Given the description of an element on the screen output the (x, y) to click on. 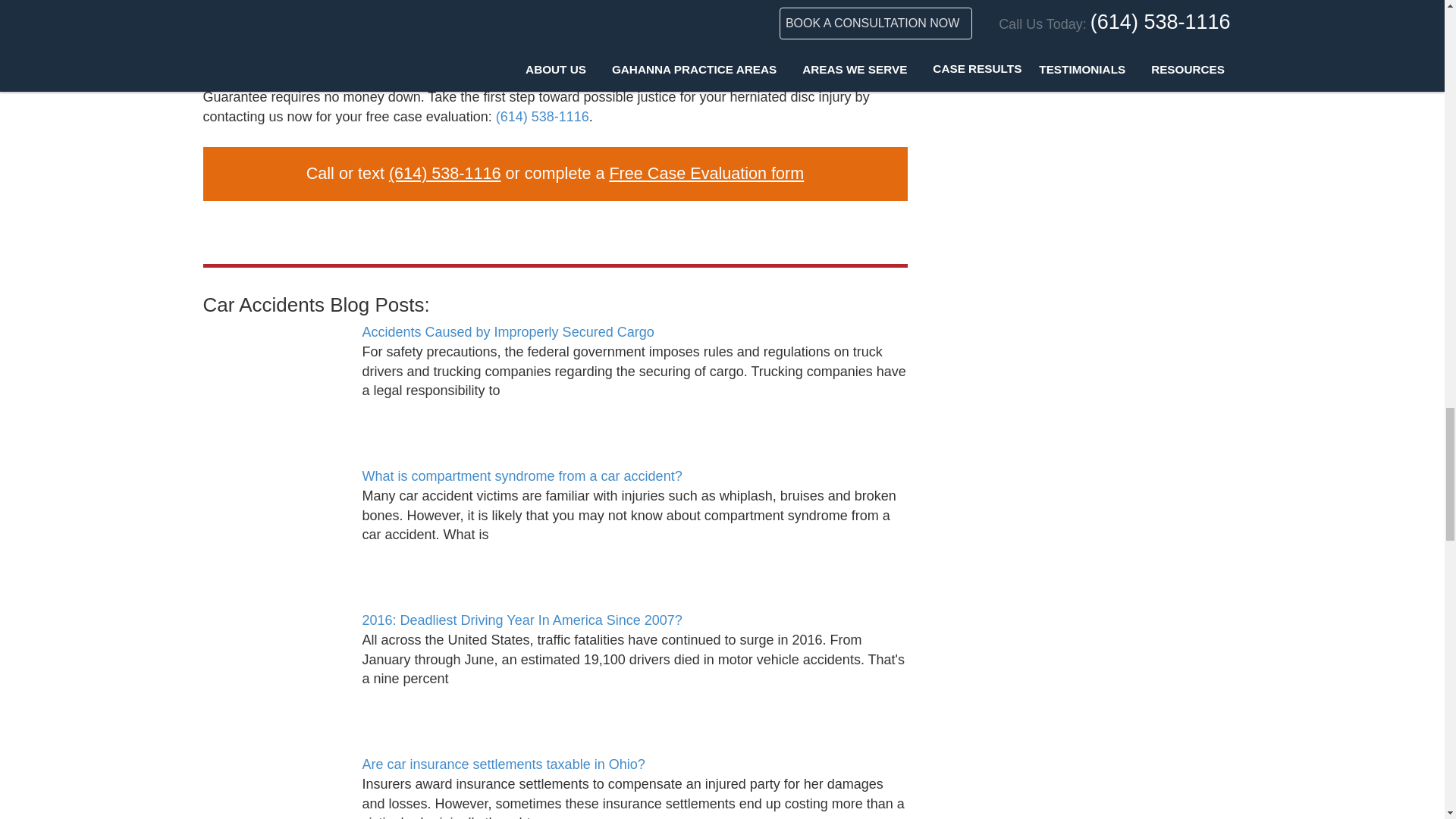
Accidents Caused by Improperly Secured Cargo (275, 379)
2016: Deadliest Driving Year In America Since 2007? (275, 667)
What is compartment syndrome from a car accident? (275, 523)
Are car insurance settlements taxable in Ohio? (275, 787)
